Given the description of an element on the screen output the (x, y) to click on. 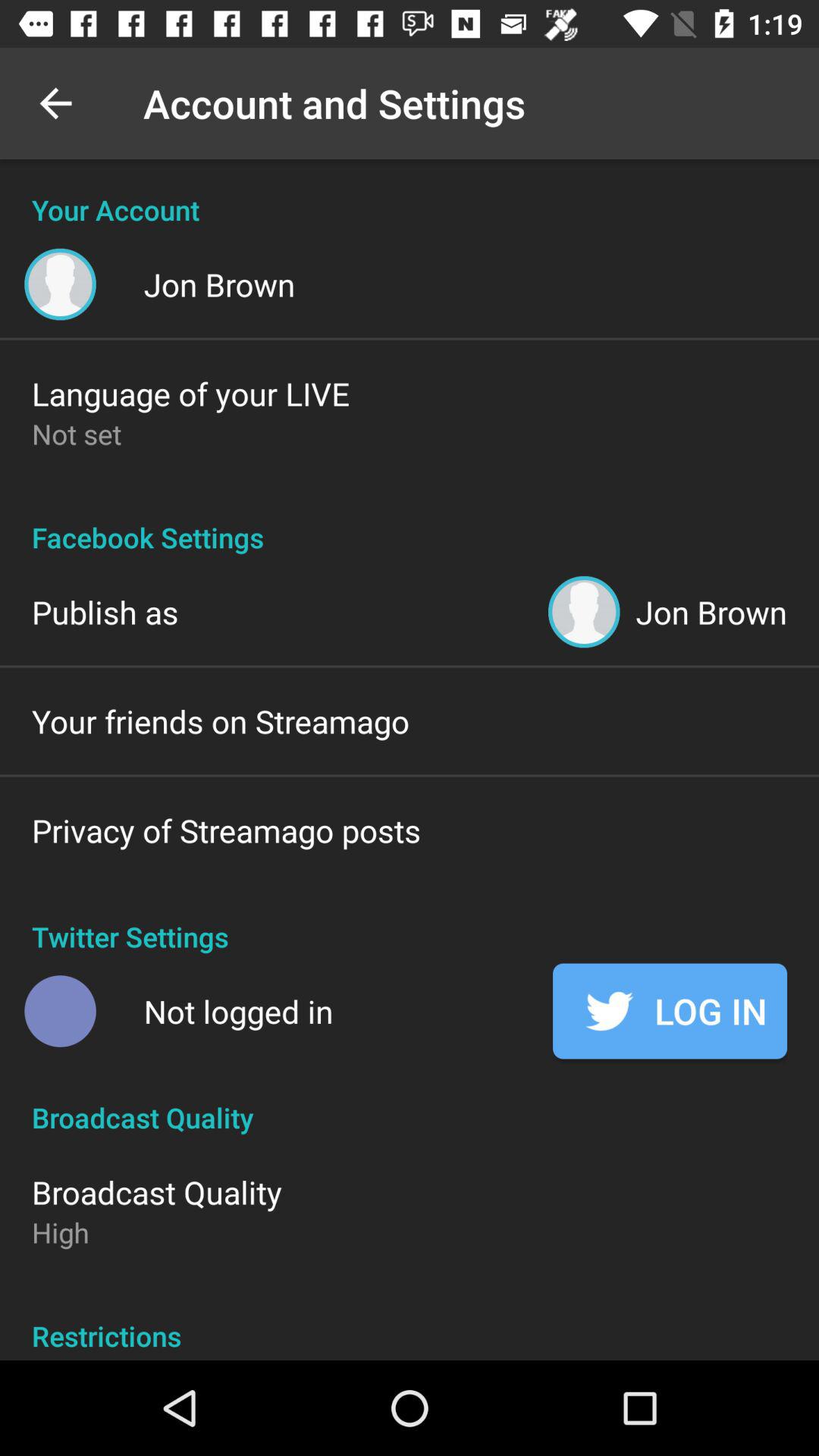
click item to the left of the log in item (238, 1010)
